Given the description of an element on the screen output the (x, y) to click on. 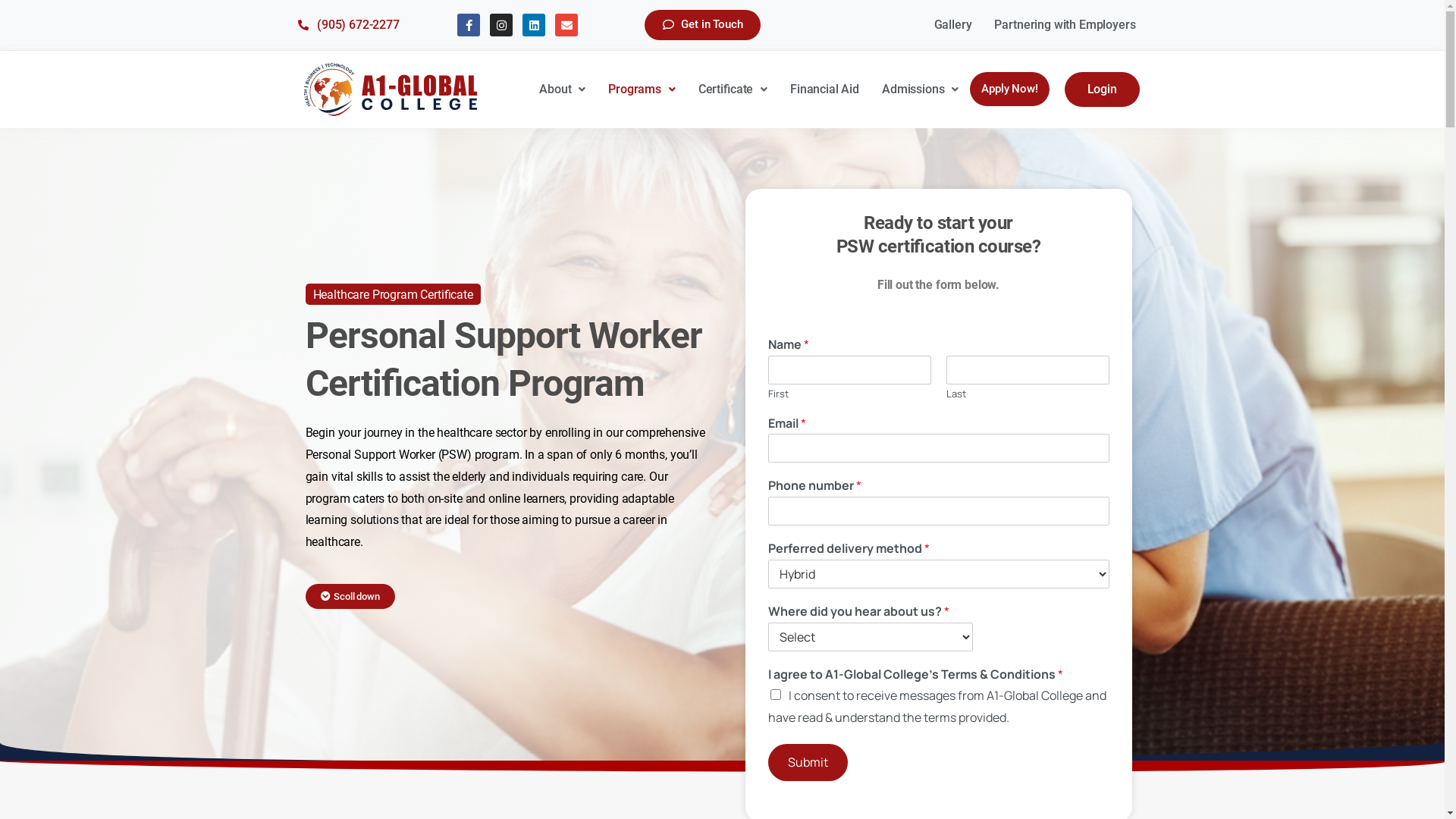
Scoll down Element type: text (349, 598)
Programs Element type: text (641, 89)
Login Element type: text (1101, 89)
(905) 672-2277 Element type: text (369, 25)
Get in Touch Element type: text (702, 24)
Certificate Element type: text (732, 89)
Submit Element type: text (807, 762)
Apply Now! Element type: text (1008, 89)
Financial Aid Element type: text (824, 89)
Gallery Element type: text (952, 24)
About Element type: text (561, 89)
Admissions Element type: text (919, 89)
Partnering with Employers Element type: text (1064, 24)
